Given the description of an element on the screen output the (x, y) to click on. 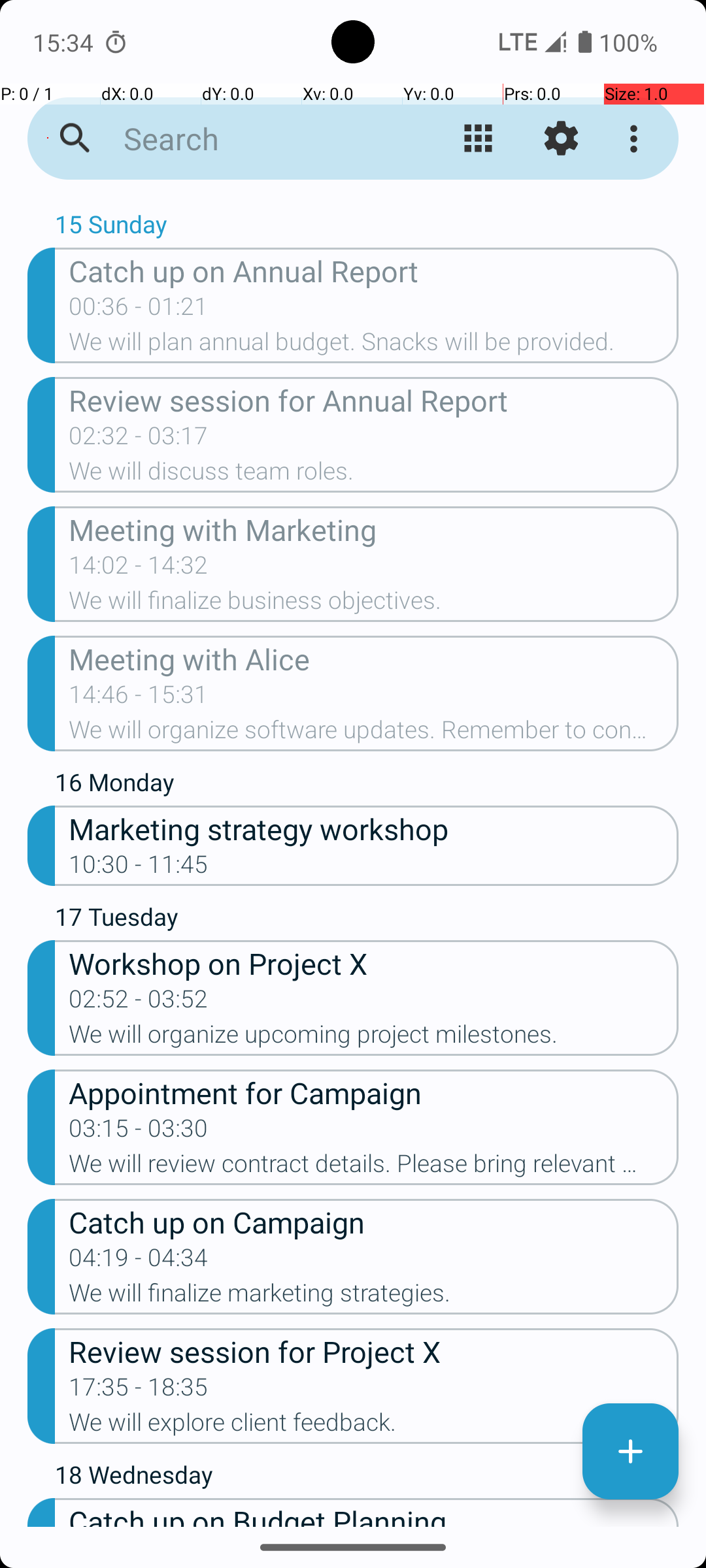
00:36 - 01:21 Element type: android.widget.TextView (137, 309)
We will plan annual budget. Snacks will be provided. Element type: android.widget.TextView (373, 345)
02:32 - 03:17 Element type: android.widget.TextView (137, 439)
We will discuss team roles. Element type: android.widget.TextView (373, 474)
14:02 - 14:32 Element type: android.widget.TextView (137, 568)
We will finalize business objectives. Element type: android.widget.TextView (373, 603)
14:46 - 15:31 Element type: android.widget.TextView (137, 698)
We will organize software updates. Remember to confirm attendance. Element type: android.widget.TextView (373, 733)
Marketing strategy workshop Element type: android.widget.TextView (373, 827)
10:30 - 11:45 Element type: android.widget.TextView (137, 867)
02:52 - 03:52 Element type: android.widget.TextView (137, 1002)
We will organize upcoming project milestones. Element type: android.widget.TextView (373, 1037)
03:15 - 03:30 Element type: android.widget.TextView (137, 1131)
We will review contract details. Please bring relevant documents. Element type: android.widget.TextView (373, 1167)
04:19 - 04:34 Element type: android.widget.TextView (137, 1261)
We will finalize marketing strategies. Element type: android.widget.TextView (373, 1296)
17:35 - 18:35 Element type: android.widget.TextView (137, 1390)
We will explore client feedback. Element type: android.widget.TextView (373, 1425)
